Given the description of an element on the screen output the (x, y) to click on. 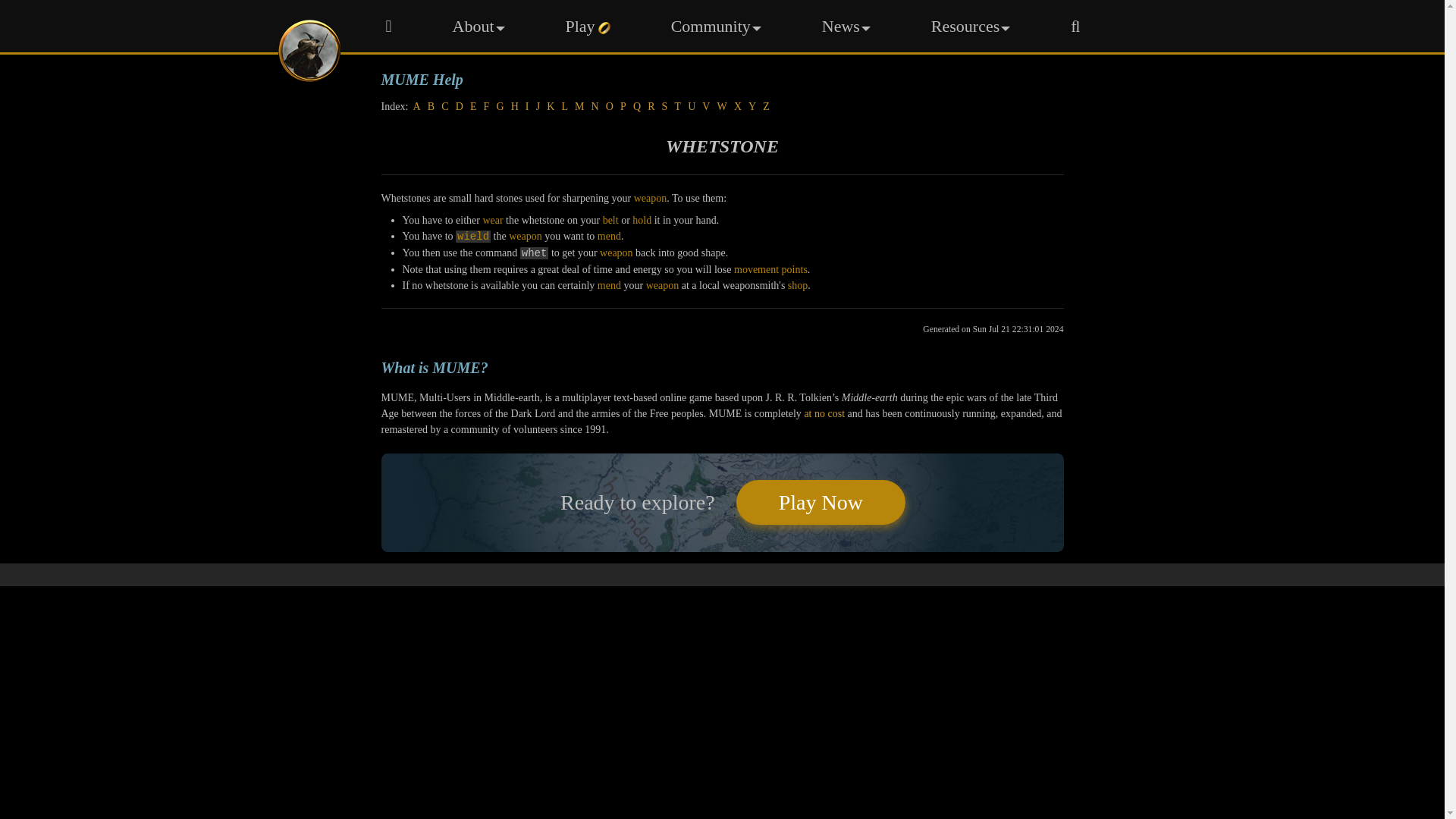
Community (716, 26)
Play (588, 26)
Resources (970, 26)
MUME Help (721, 75)
About (477, 26)
News (846, 26)
